Given the description of an element on the screen output the (x, y) to click on. 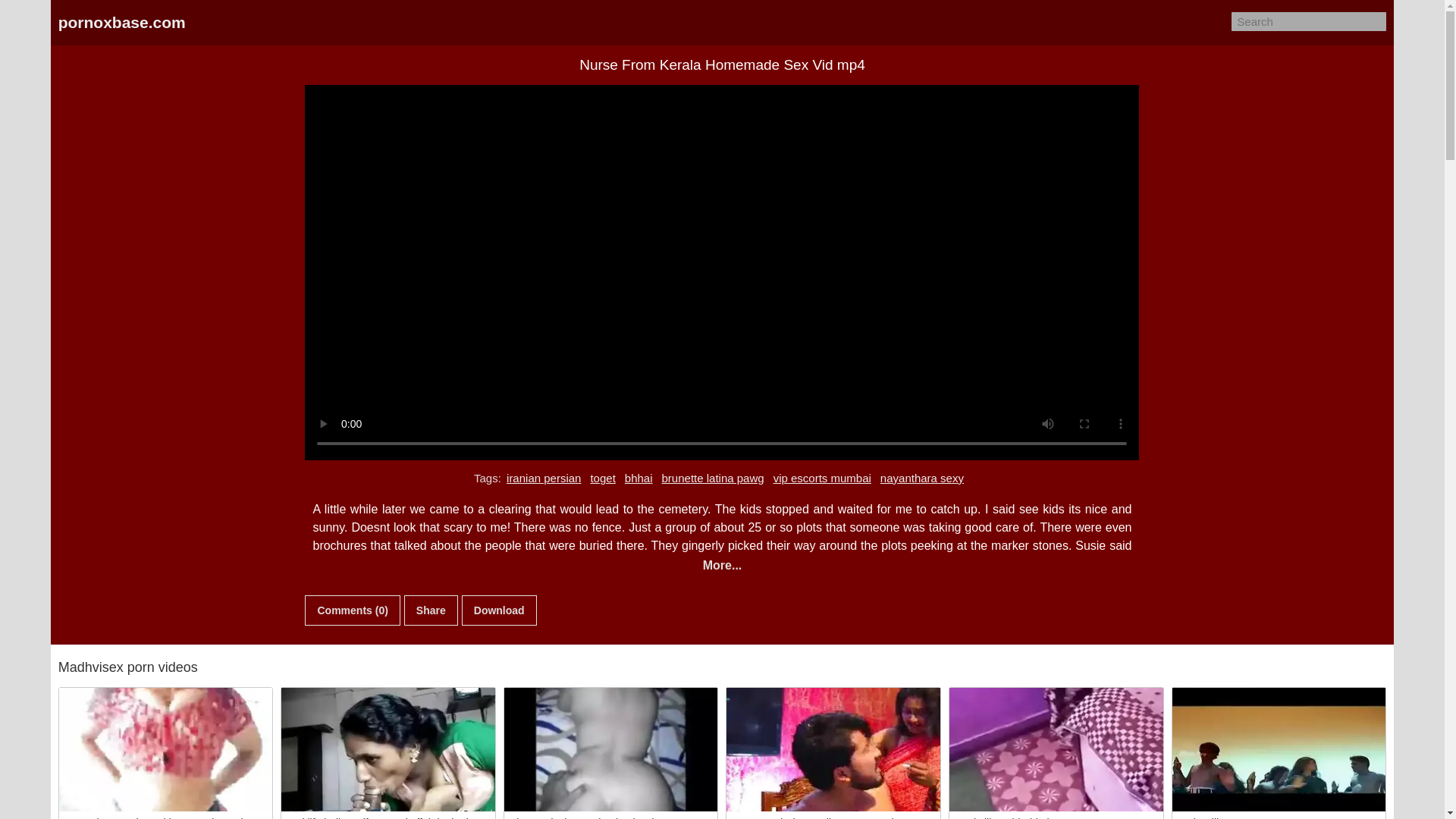
Download (499, 610)
bhhai (639, 478)
pornoxbase.com (122, 22)
Satin Silk 532 (1279, 749)
toget (602, 478)
vip escorts mumbai (822, 478)
Hot Babe Dancing With Huge Tits and Navel (166, 749)
iranian persian (543, 478)
Desi village bhabi nice pussy (1056, 749)
real life indian wife sexual affair leaked onlina (388, 749)
Share (431, 610)
Funny And Short Indian Porn Movie (833, 749)
nayanthara sexy (921, 478)
Big ass desi aunty having hardcore (610, 749)
brunette latina pawg (713, 478)
